Given the description of an element on the screen output the (x, y) to click on. 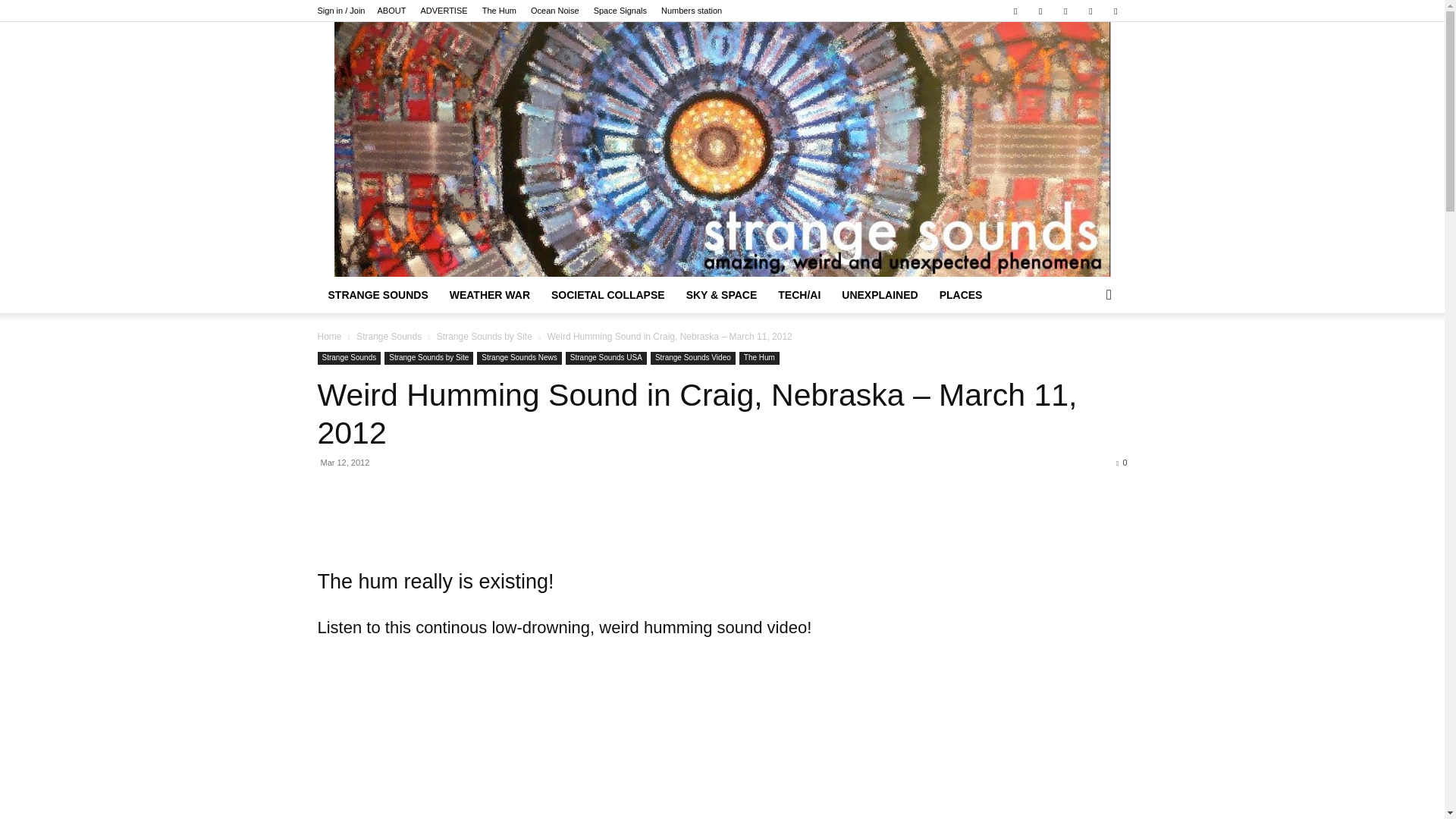
Unexplained sounds of the deep ocean (555, 10)
About Strange Sounds (391, 10)
Numbers station (691, 10)
Facebook (1015, 10)
Ocean Noise (555, 10)
The Hum mysterious phenomenon (498, 10)
ADVERTISE ON STRANGE SOUNDS (443, 10)
The Hum (498, 10)
Paypal (1040, 10)
